Given the description of an element on the screen output the (x, y) to click on. 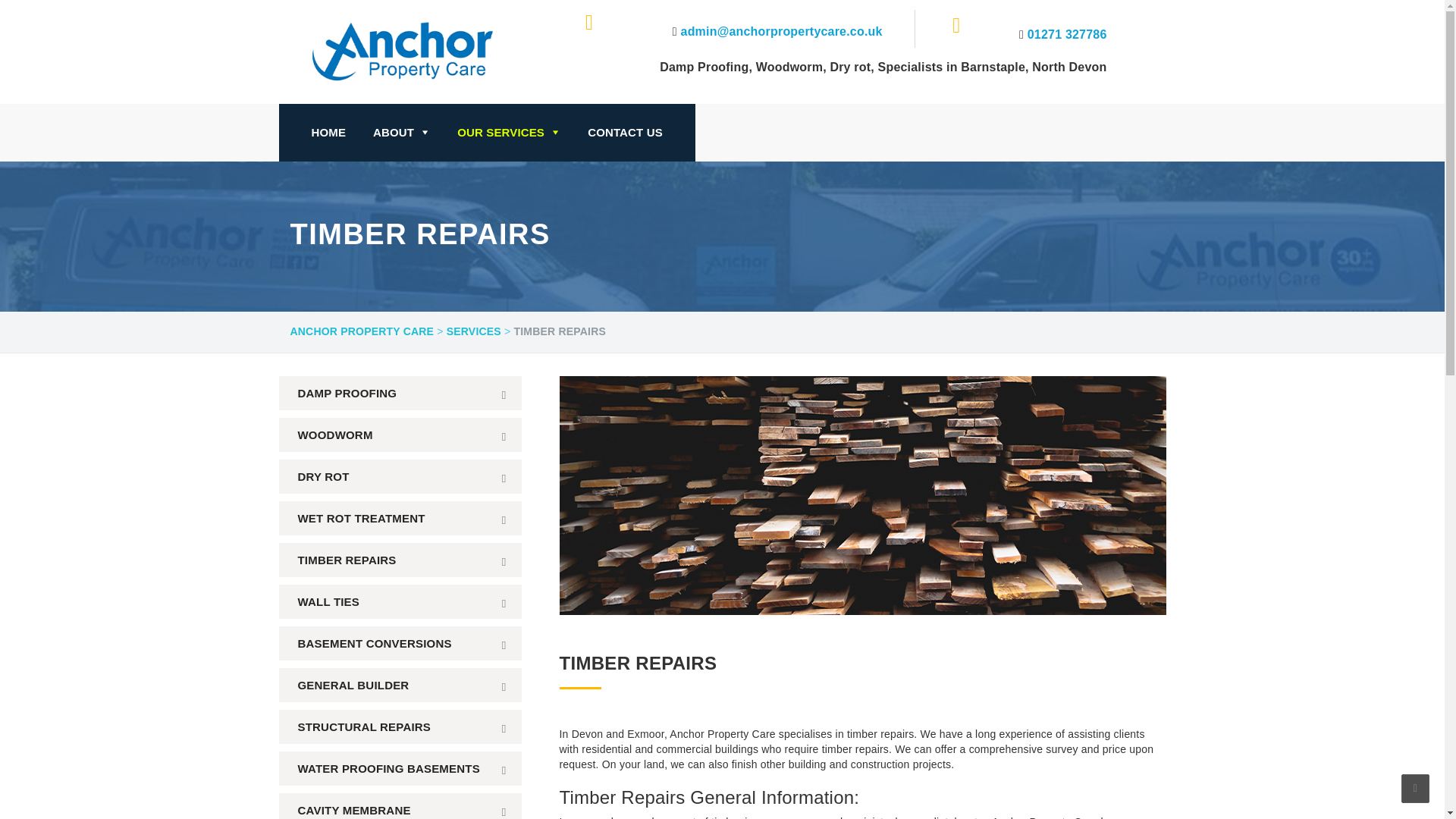
01271 327786 (1066, 33)
CAVITY MEMBRANE (400, 806)
SERVICES (473, 331)
Anchor Property Care (427, 50)
CONTACT US (625, 132)
DRY ROT (400, 476)
DAMP PROOFING (400, 392)
WET ROT TREATMENT (400, 518)
ANCHOR PROPERTY CARE (361, 331)
HOME (328, 132)
BASEMENT CONVERSIONS (400, 643)
Go to Anchor Property Care. (361, 331)
OUR SERVICES (508, 132)
TIMBER REPAIRS (400, 559)
WOODWORM (400, 434)
